Given the description of an element on the screen output the (x, y) to click on. 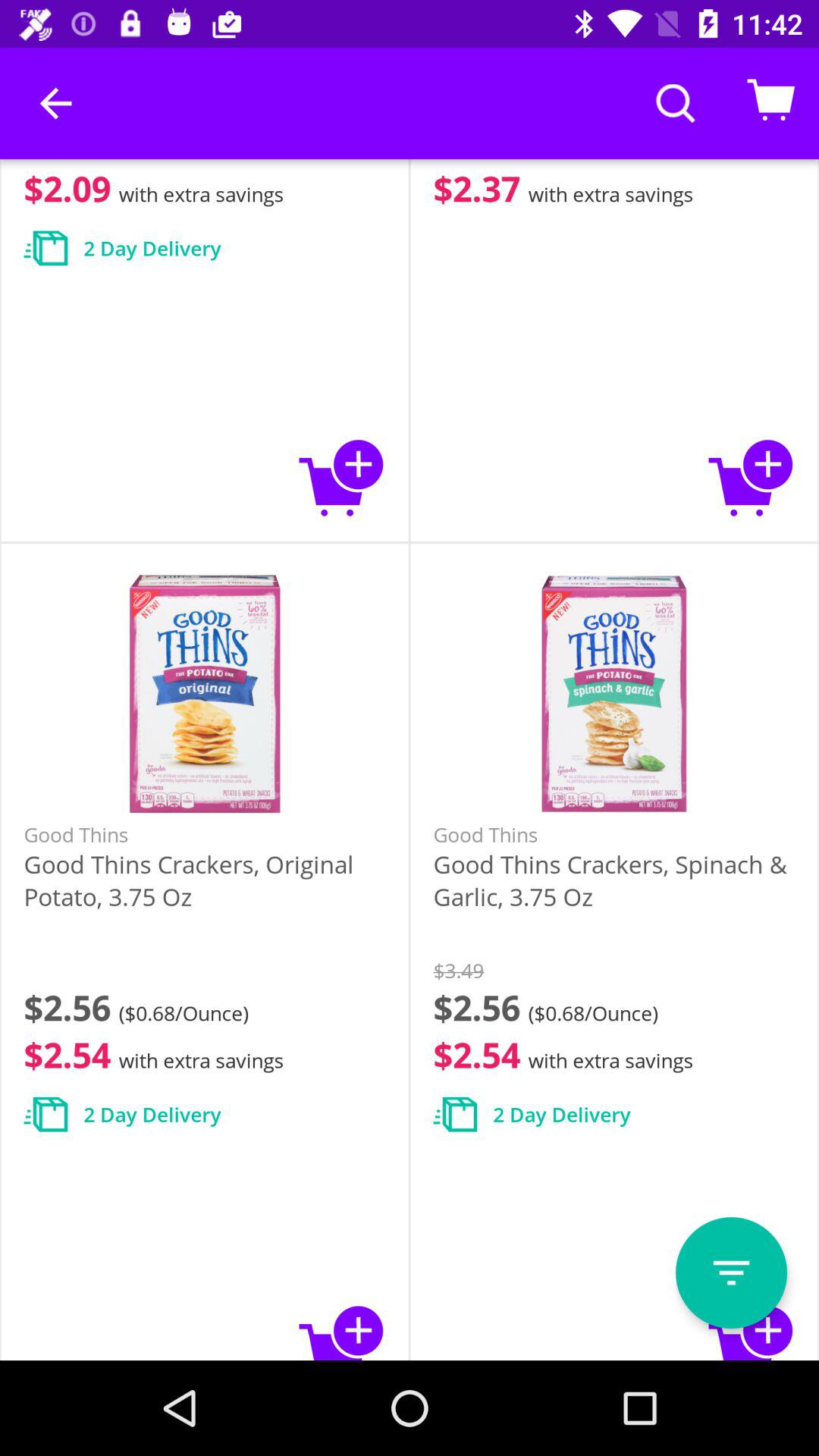
choose item below with extra savings item (731, 1272)
